Given the description of an element on the screen output the (x, y) to click on. 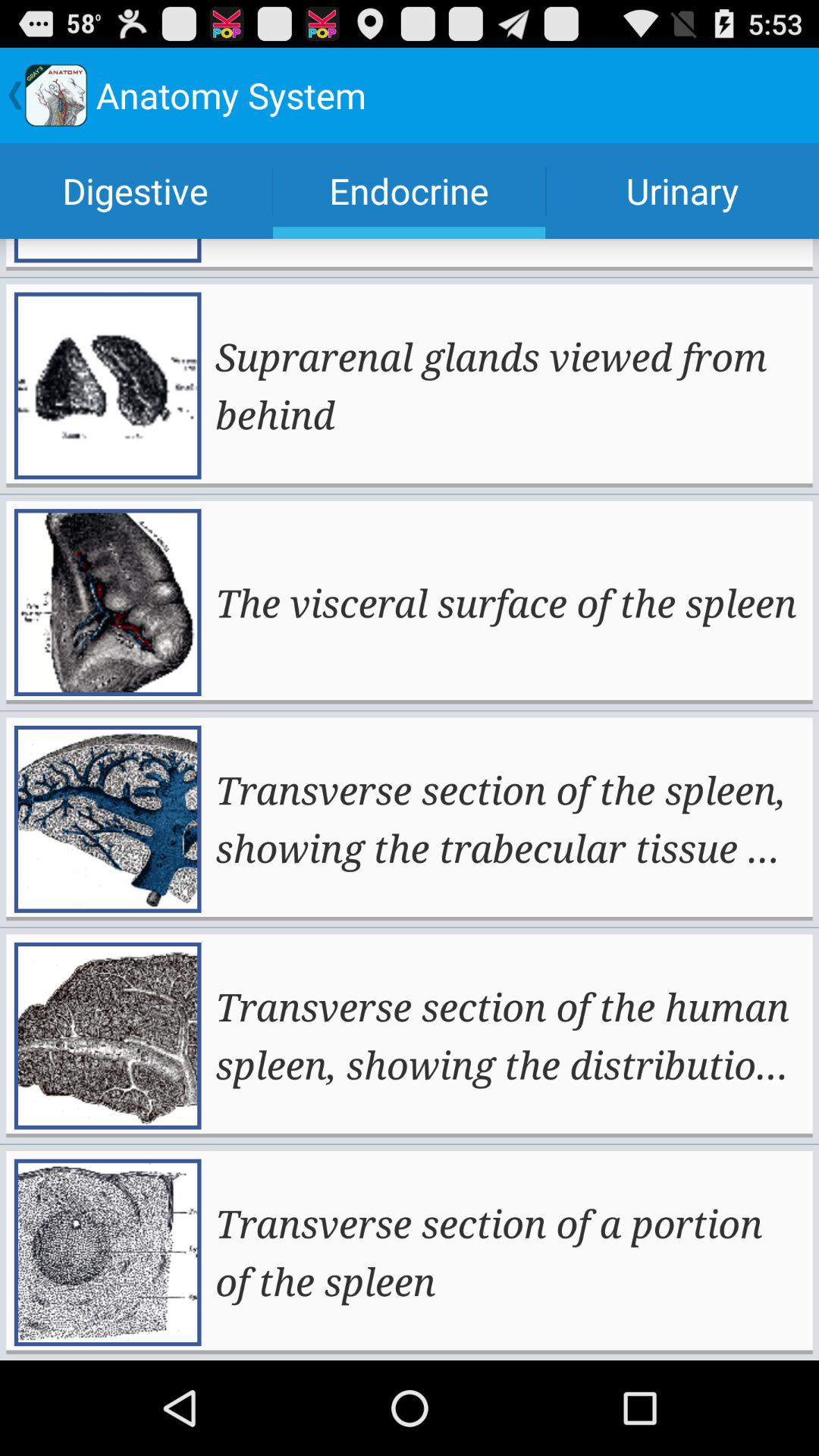
launch the the visceral surface item (505, 602)
